Given the description of an element on the screen output the (x, y) to click on. 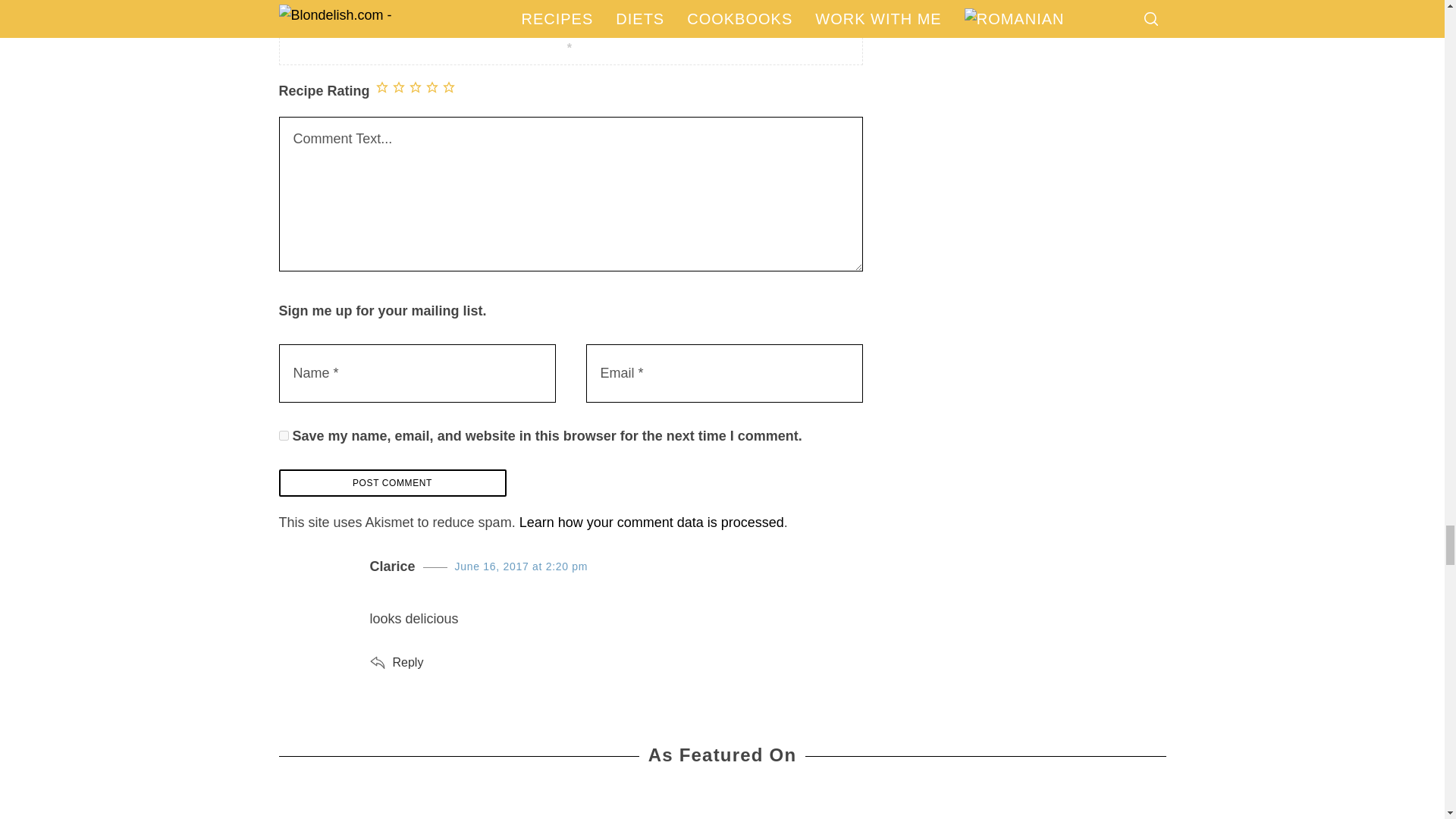
Post Comment (392, 482)
yes (283, 435)
June 16, 2017 at 2:20 pm (521, 566)
